Given the description of an element on the screen output the (x, y) to click on. 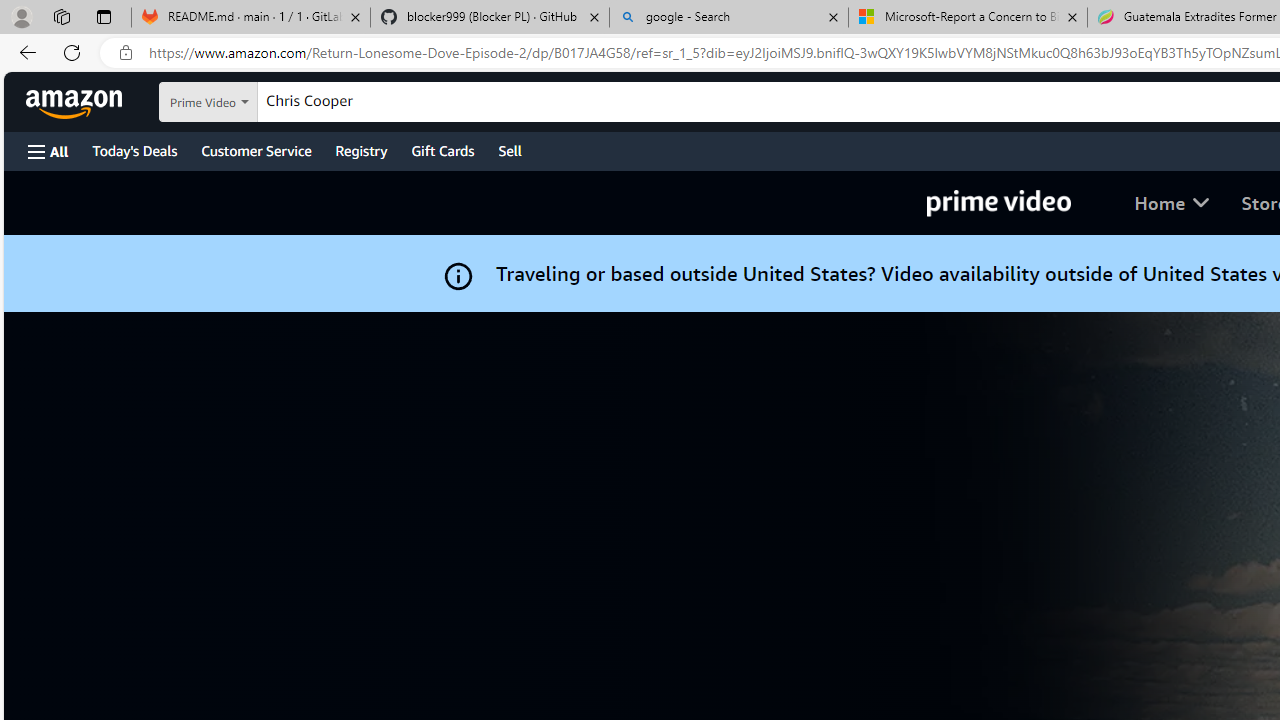
Home (1171, 202)
Prime Video (998, 202)
Open Menu (48, 151)
Registry (360, 150)
Gift Cards (442, 150)
Amazon (76, 101)
Prime Video (998, 202)
Skip to main content (86, 100)
